Given the description of an element on the screen output the (x, y) to click on. 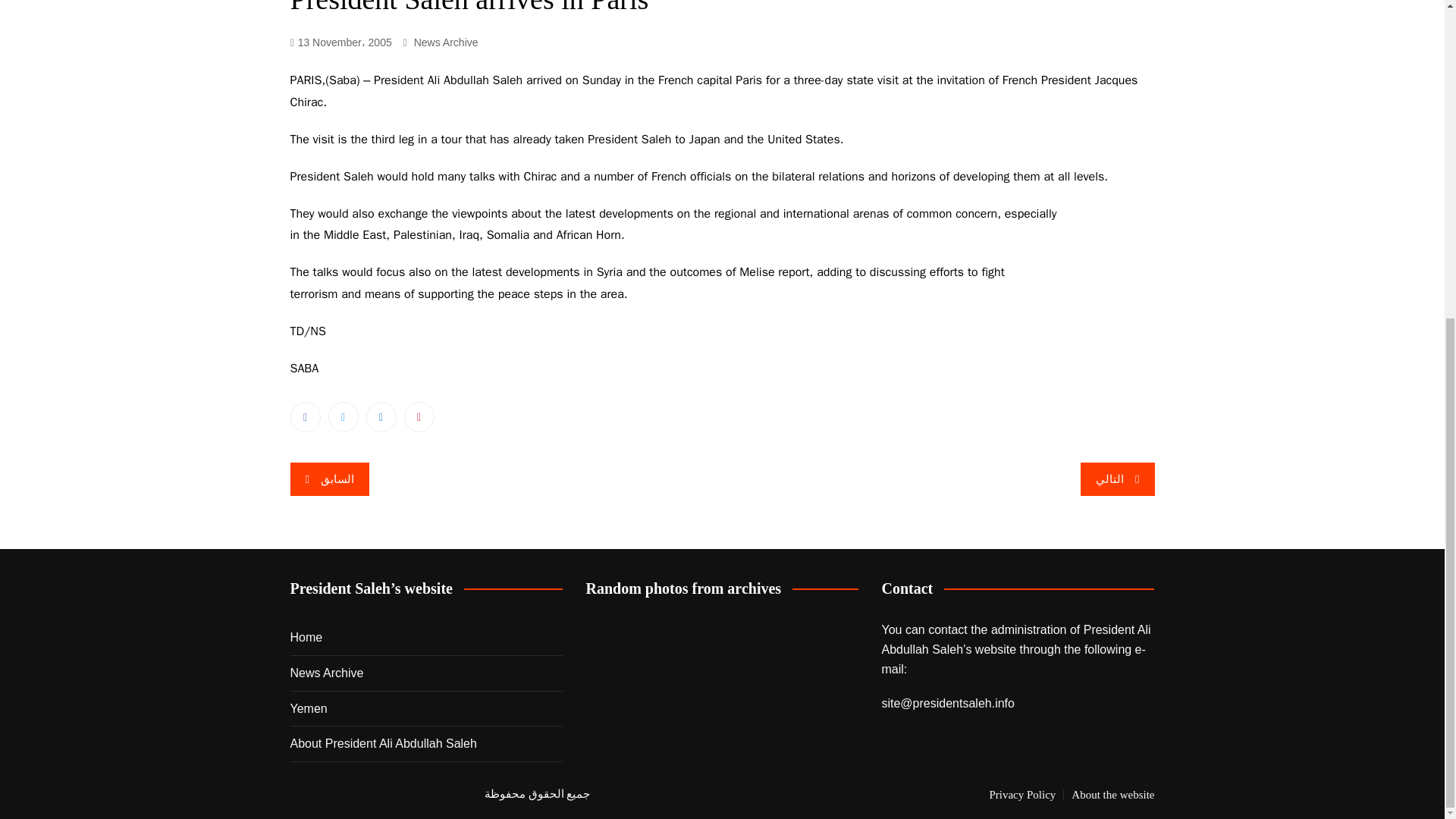
Home (305, 637)
Pinterest (418, 417)
Facebook (304, 417)
Linkedin (380, 417)
Twitter (342, 417)
Yemen (307, 709)
News Archive (325, 673)
News Archive (446, 42)
About President Ali Abdullah Saleh (382, 743)
